Given the description of an element on the screen output the (x, y) to click on. 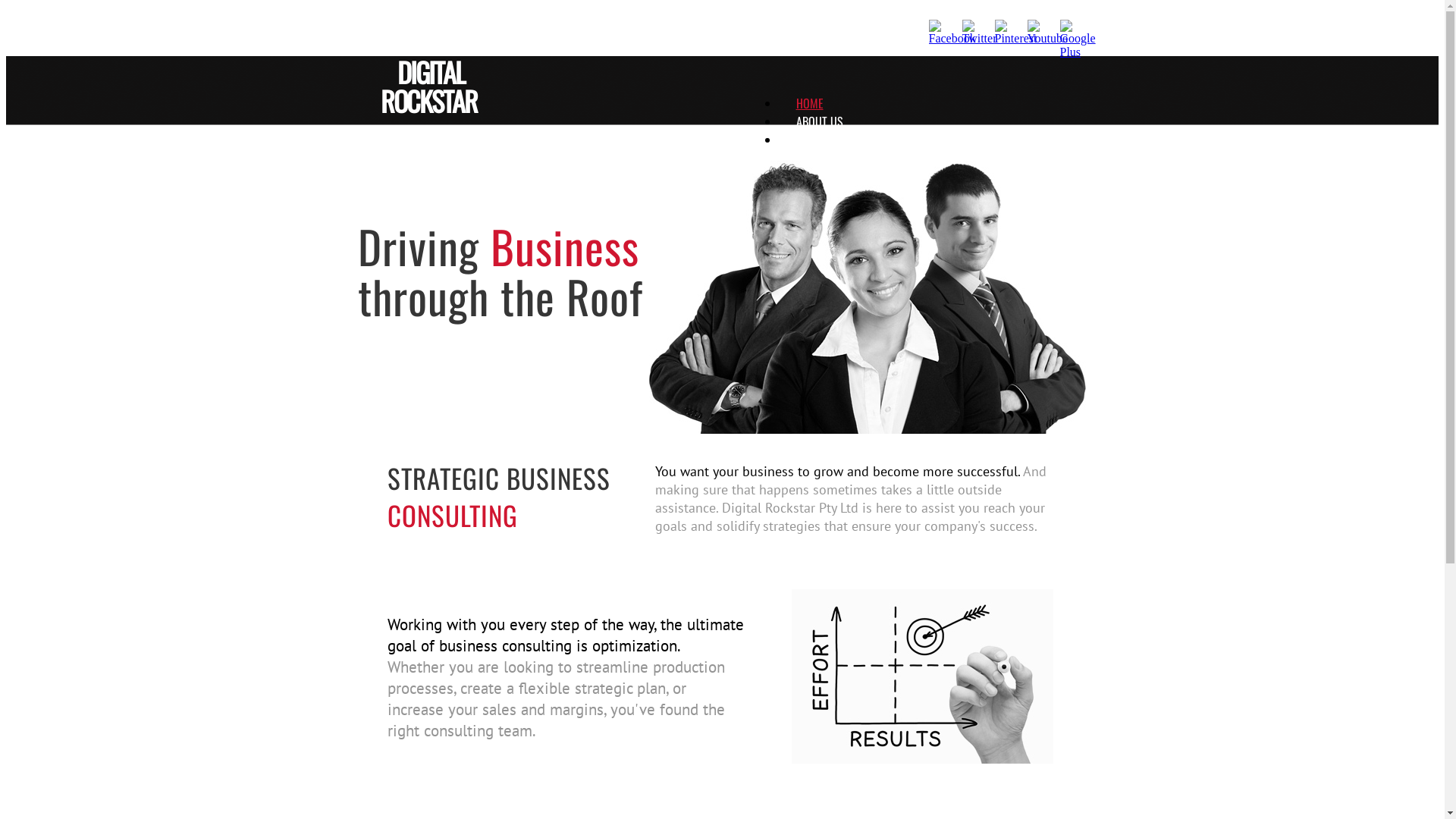
CONTACT US Element type: text (824, 157)
HOME Element type: text (809, 103)
SERVICES Element type: text (818, 139)
ABOUT US Element type: text (819, 121)
